Given the description of an element on the screen output the (x, y) to click on. 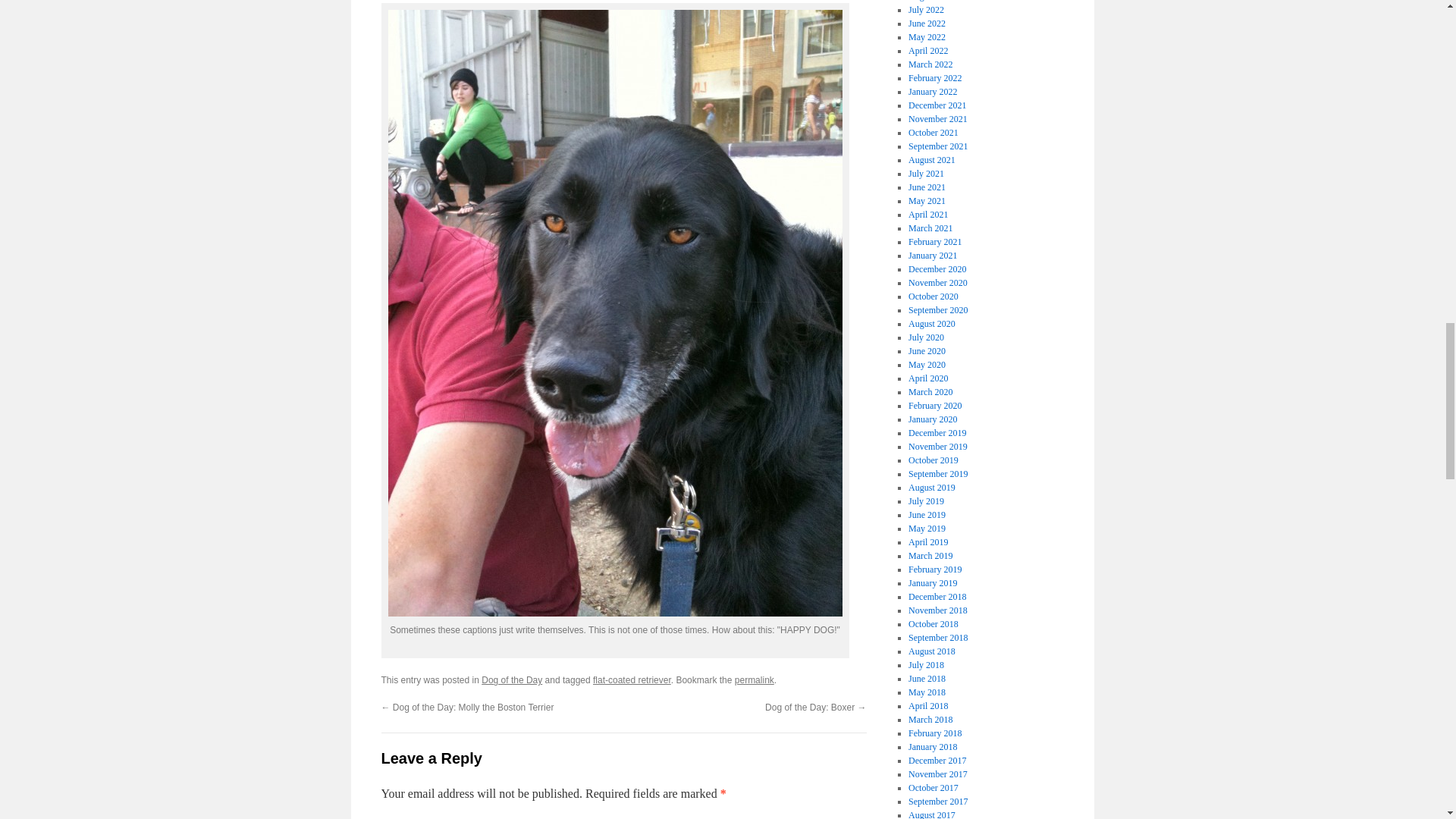
permalink (754, 679)
Dog of the Day (511, 679)
Permalink to Dog of the Day: Hunter the Flat-Coat Retriever (754, 679)
flat-coated retriever (631, 679)
